Given the description of an element on the screen output the (x, y) to click on. 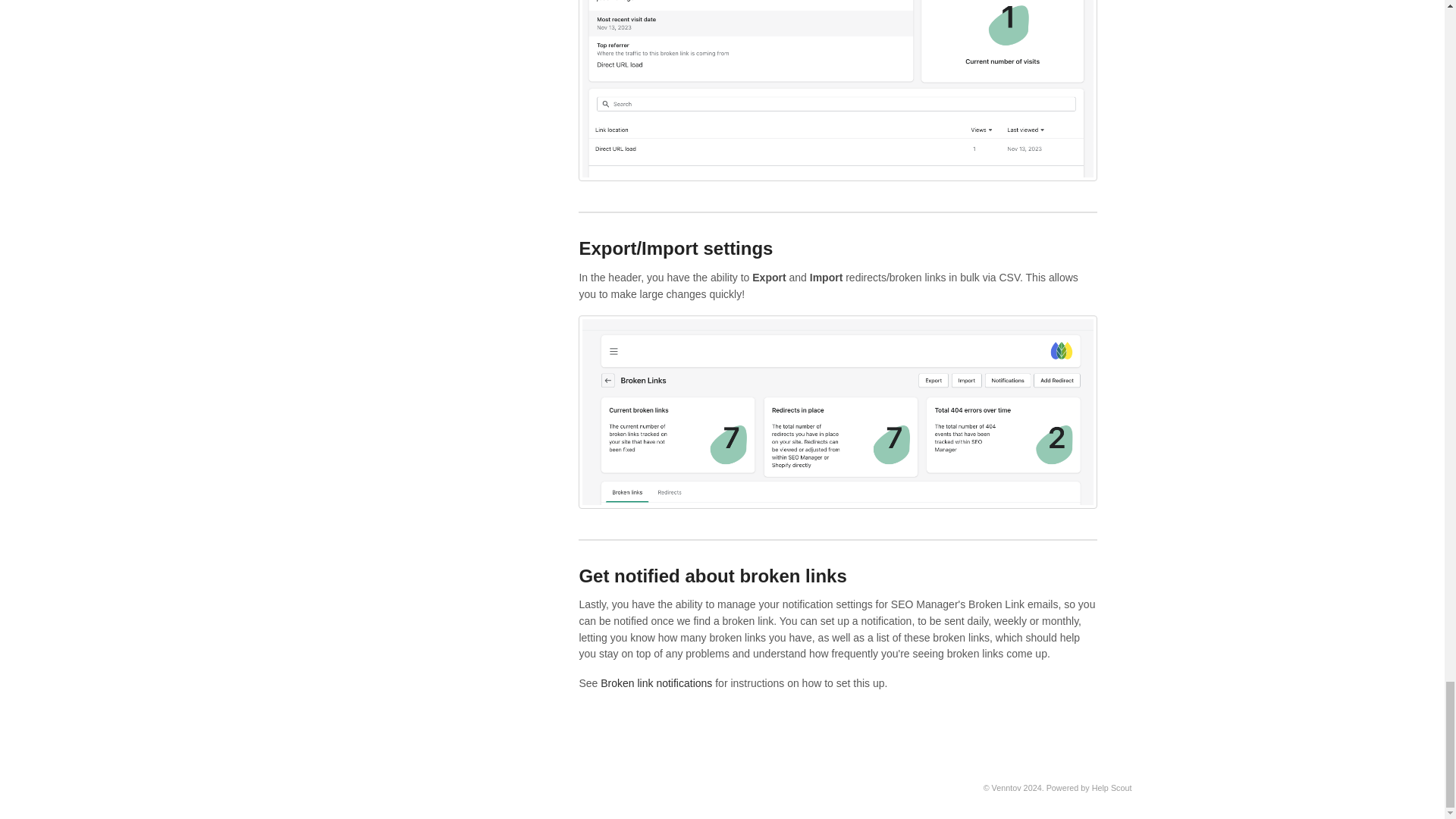
Help Scout (1112, 787)
Broken link notifications (655, 683)
Venntov (1006, 787)
